Given the description of an element on the screen output the (x, y) to click on. 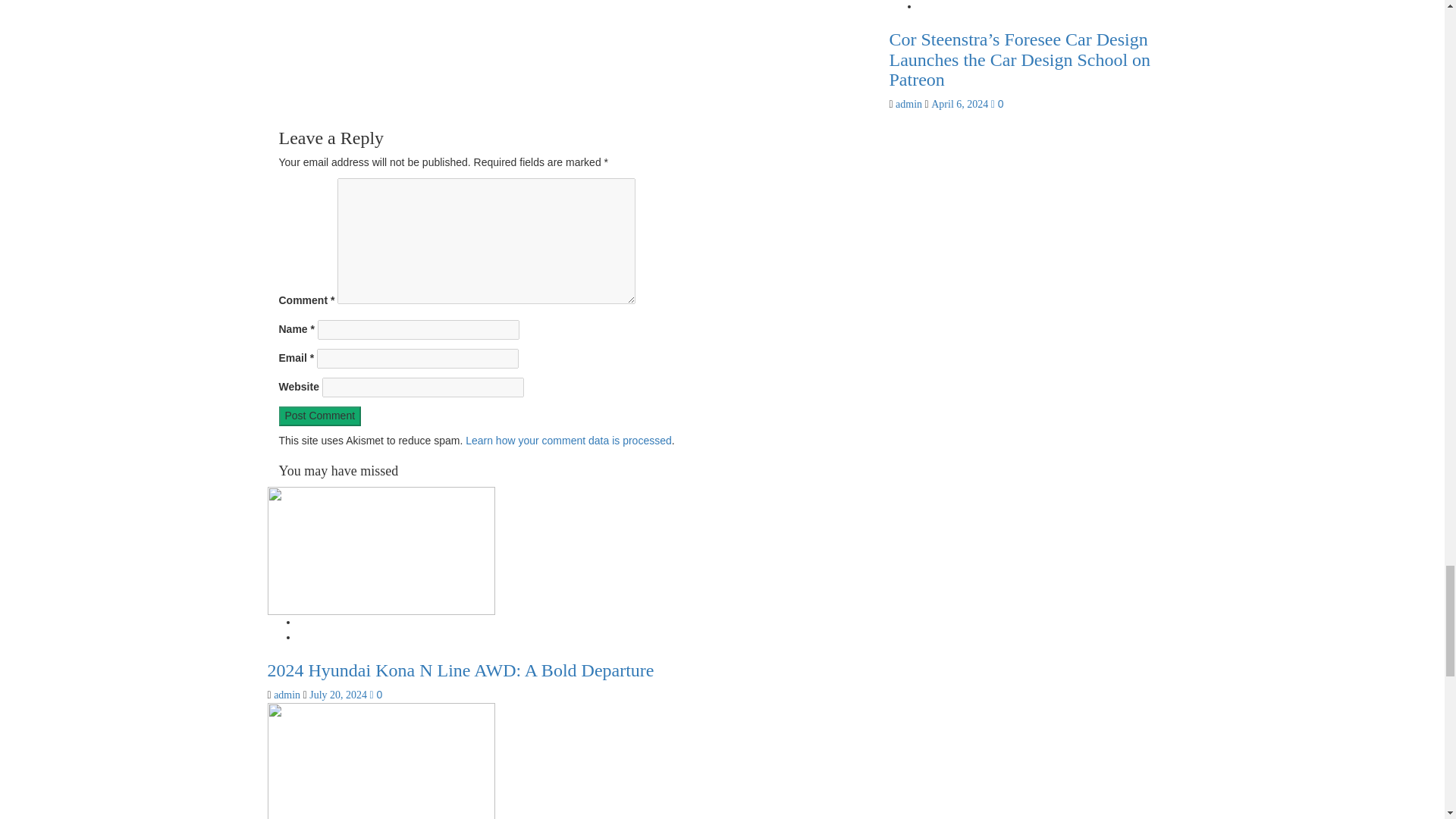
Post Comment (320, 415)
